Given the description of an element on the screen output the (x, y) to click on. 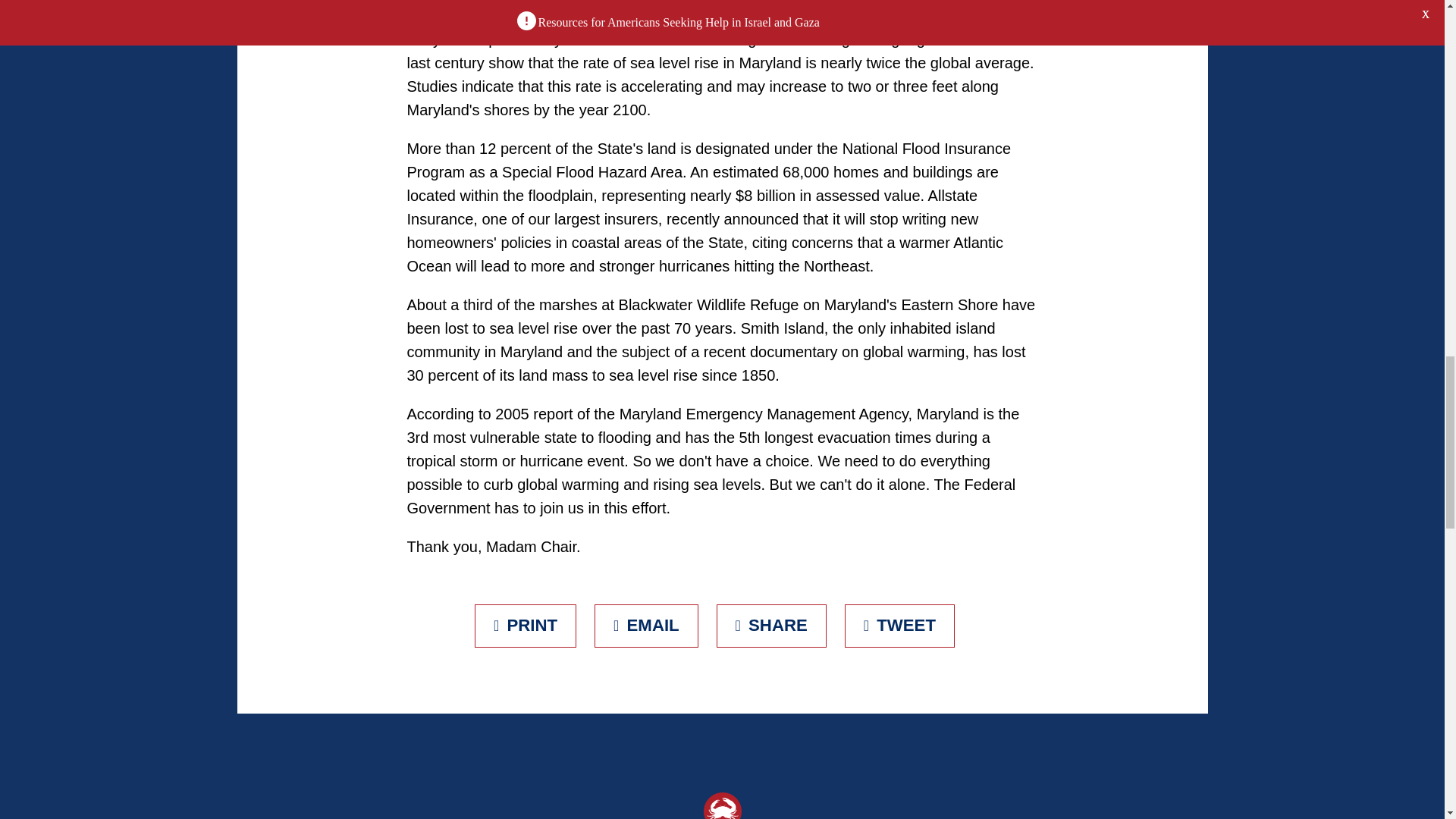
Print (525, 625)
Tweet (899, 625)
Email (646, 625)
Crab (722, 805)
Share on Facebook (771, 625)
